Given the description of an element on the screen output the (x, y) to click on. 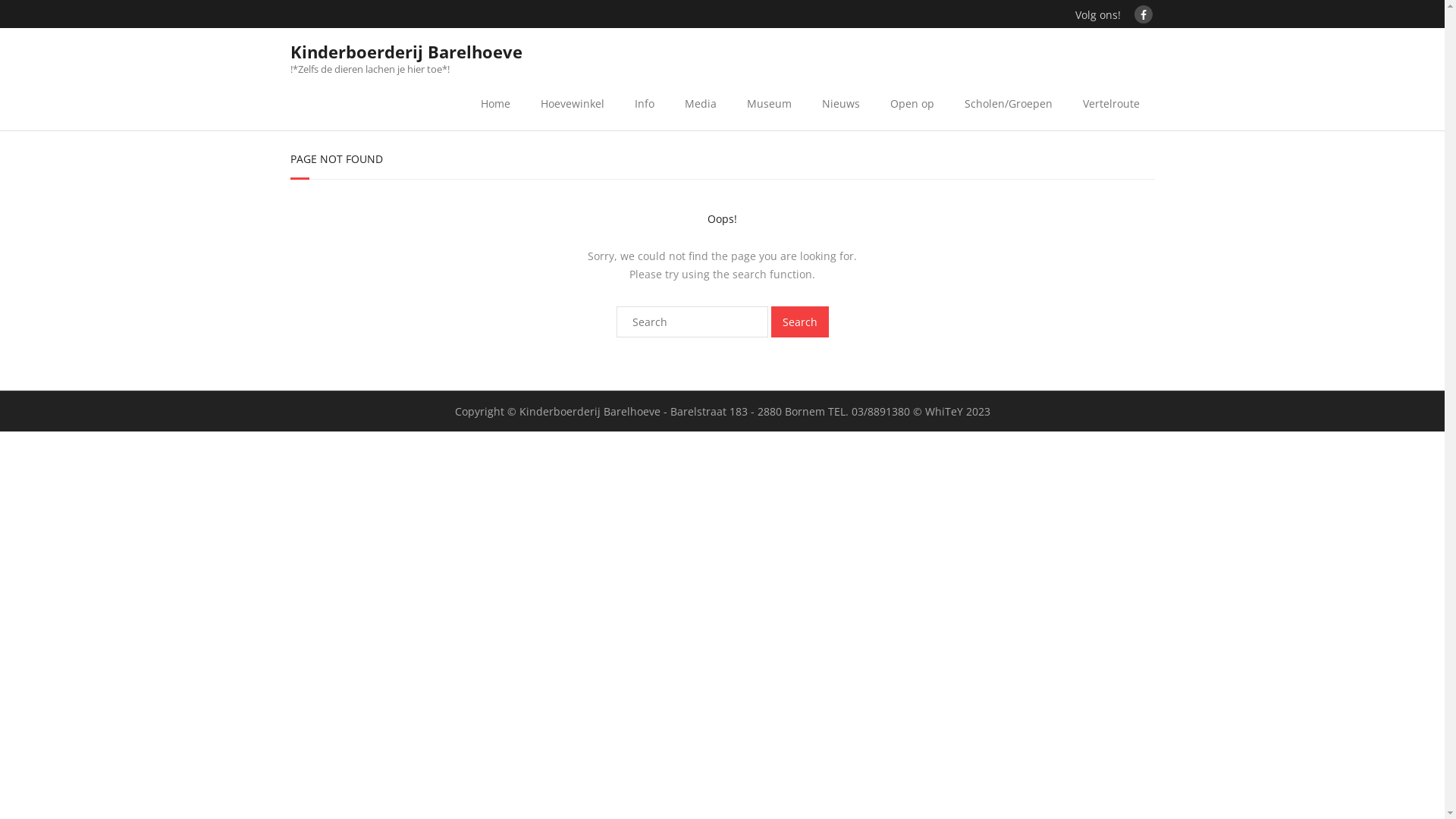
Open op Element type: text (912, 103)
Nieuws Element type: text (840, 103)
Vertelroute Element type: text (1110, 103)
Hoevewinkel Element type: text (571, 103)
Info Element type: text (643, 103)
Media Element type: text (699, 103)
Museum Element type: text (768, 103)
Home Element type: text (495, 103)
Search Element type: text (799, 321)
Scholen/Groepen Element type: text (1008, 103)
